Given the description of an element on the screen output the (x, y) to click on. 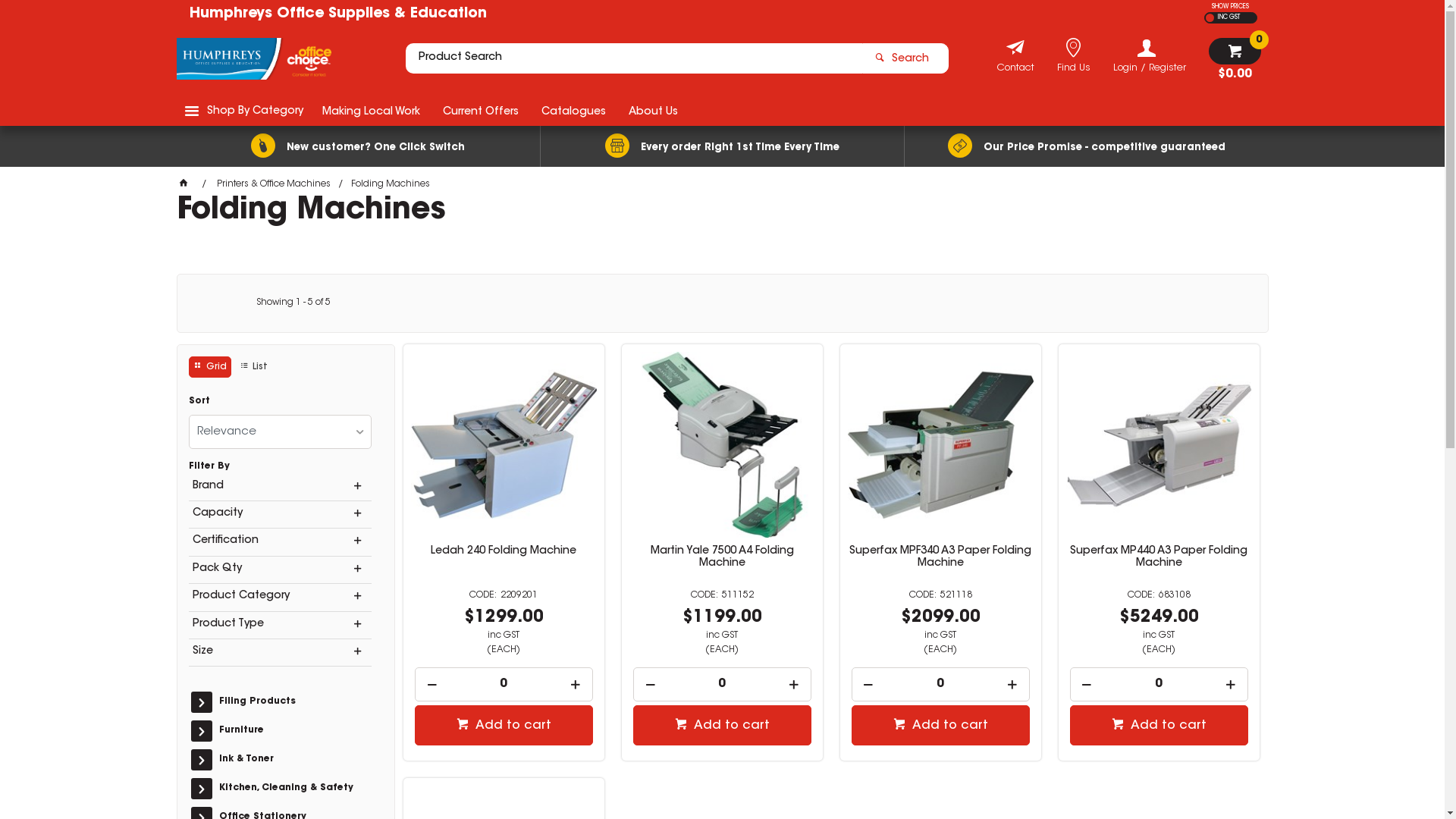
Making Local Work Element type: text (370, 110)
Add to cart Element type: text (1159, 724)
EX GST Element type: text (1209, 17)
Kitchen, Cleaning & Safety Element type: text (293, 788)
Current Offers Element type: text (479, 110)
Every order Right 1st Time Every Time Element type: text (721, 145)
Martin Yale 7500 A4 Folding Machine Element type: text (722, 557)
Filing Products Element type: text (293, 702)
Ink & Toner Element type: text (293, 759)
Find Us Element type: text (1073, 69)
Login / Register Element type: text (1149, 55)
Furniture Element type: text (293, 730)
Search Element type: text (904, 58)
$0.00
0 Element type: text (1234, 59)
Ledah 240 Folding Machine Element type: text (503, 551)
Add to cart Element type: text (503, 724)
Printers & Office Machines Element type: text (273, 183)
INC GST Element type: text (1226, 17)
Contact Element type: text (1014, 69)
Catalogues Element type: text (572, 110)
New customer? One Click Switch Element type: text (357, 145)
Our Price Promise - competitive guaranteed Element type: text (1085, 145)
Add to cart Element type: text (722, 724)
Add to cart Element type: text (940, 724)
Superfax MPF340 A3 Paper Folding Machine Element type: text (940, 557)
Superfax MP440 A3 Paper Folding Machine Element type: text (1159, 557)
About Us Element type: text (653, 110)
